Given the description of an element on the screen output the (x, y) to click on. 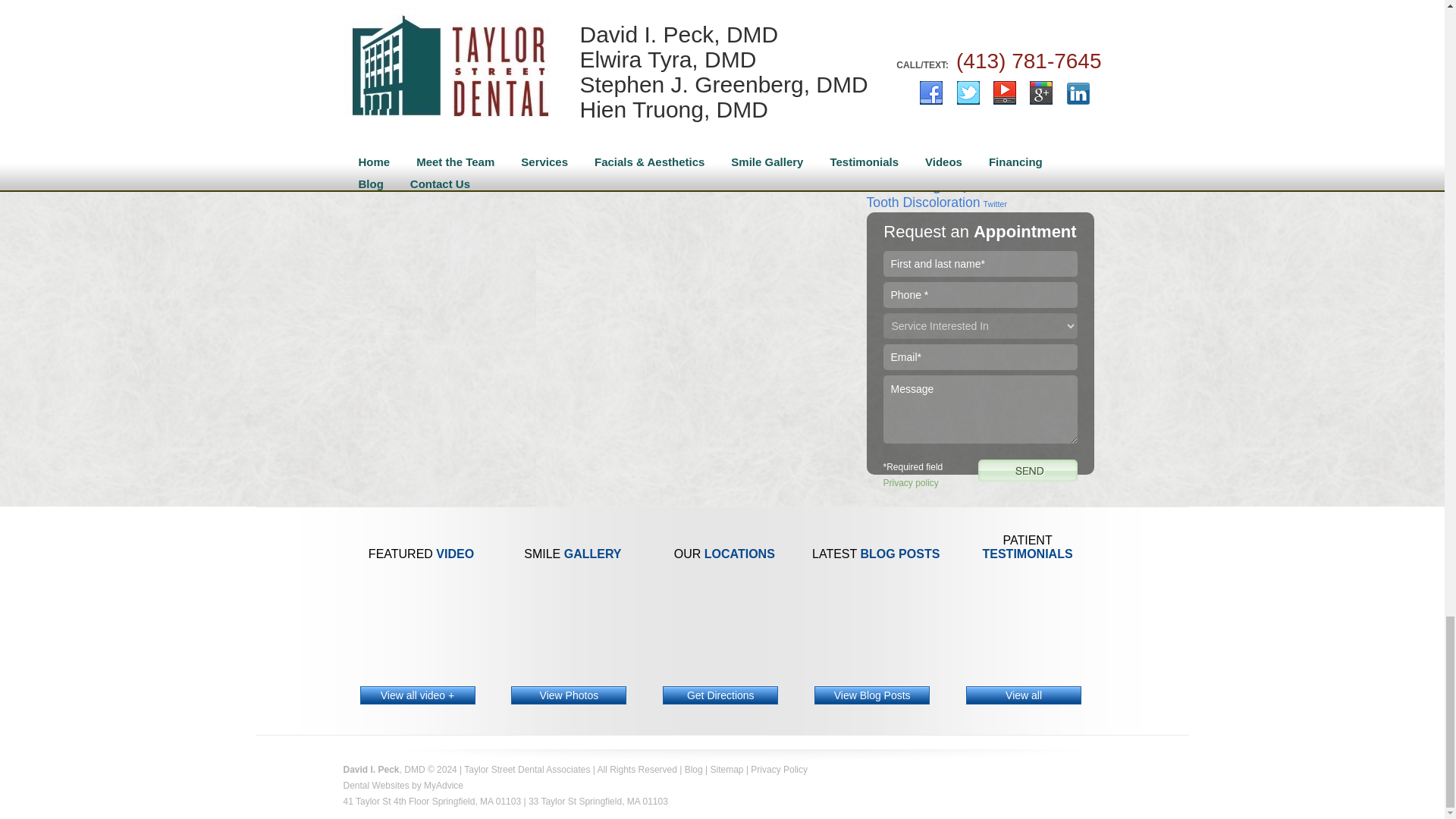
Submit (1027, 470)
